Given the description of an element on the screen output the (x, y) to click on. 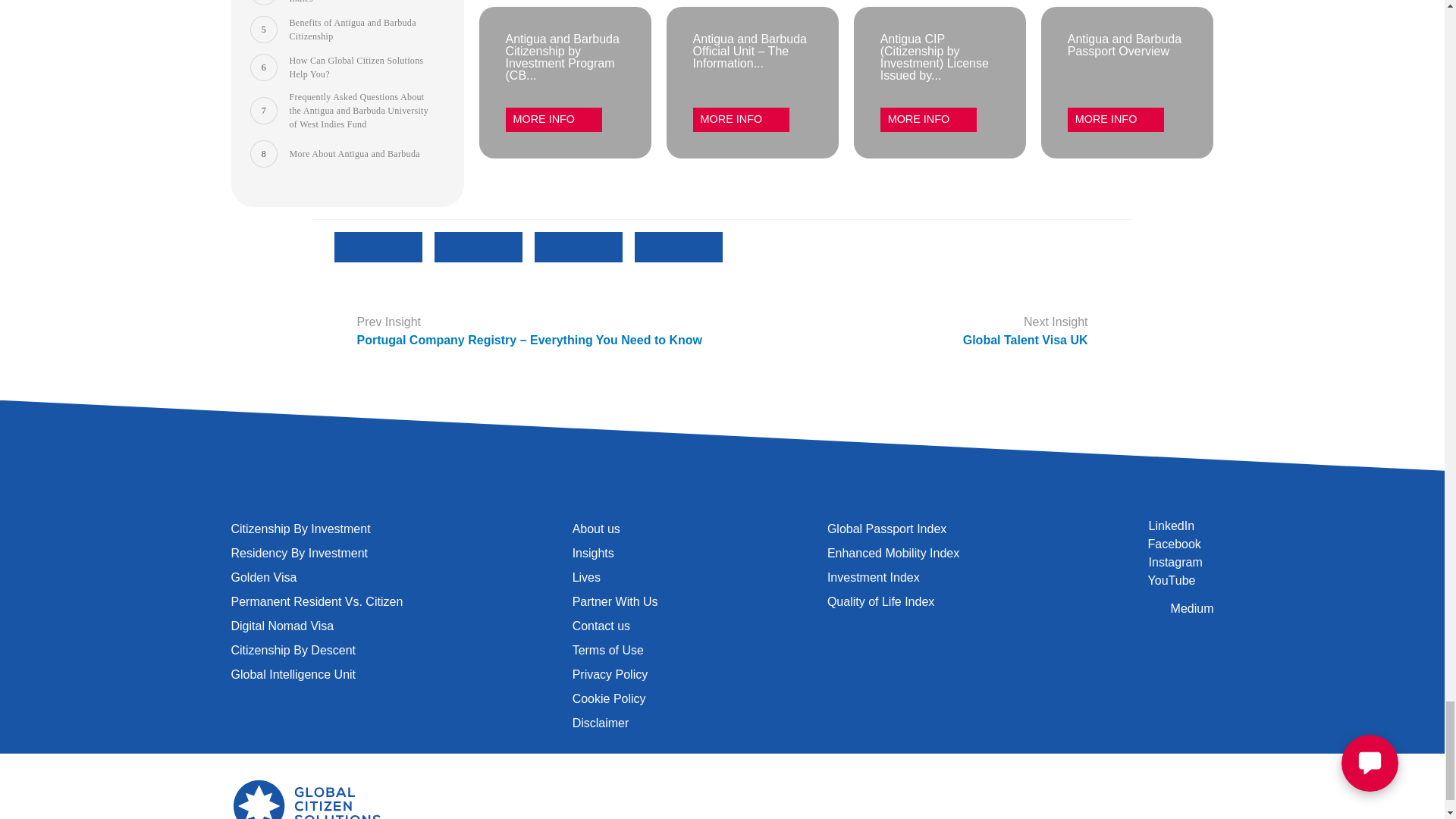
Share on Twitter (477, 293)
Share on Facebook (377, 293)
Share on LinkedIn (678, 293)
Share on Pinterest (578, 293)
